Given the description of an element on the screen output the (x, y) to click on. 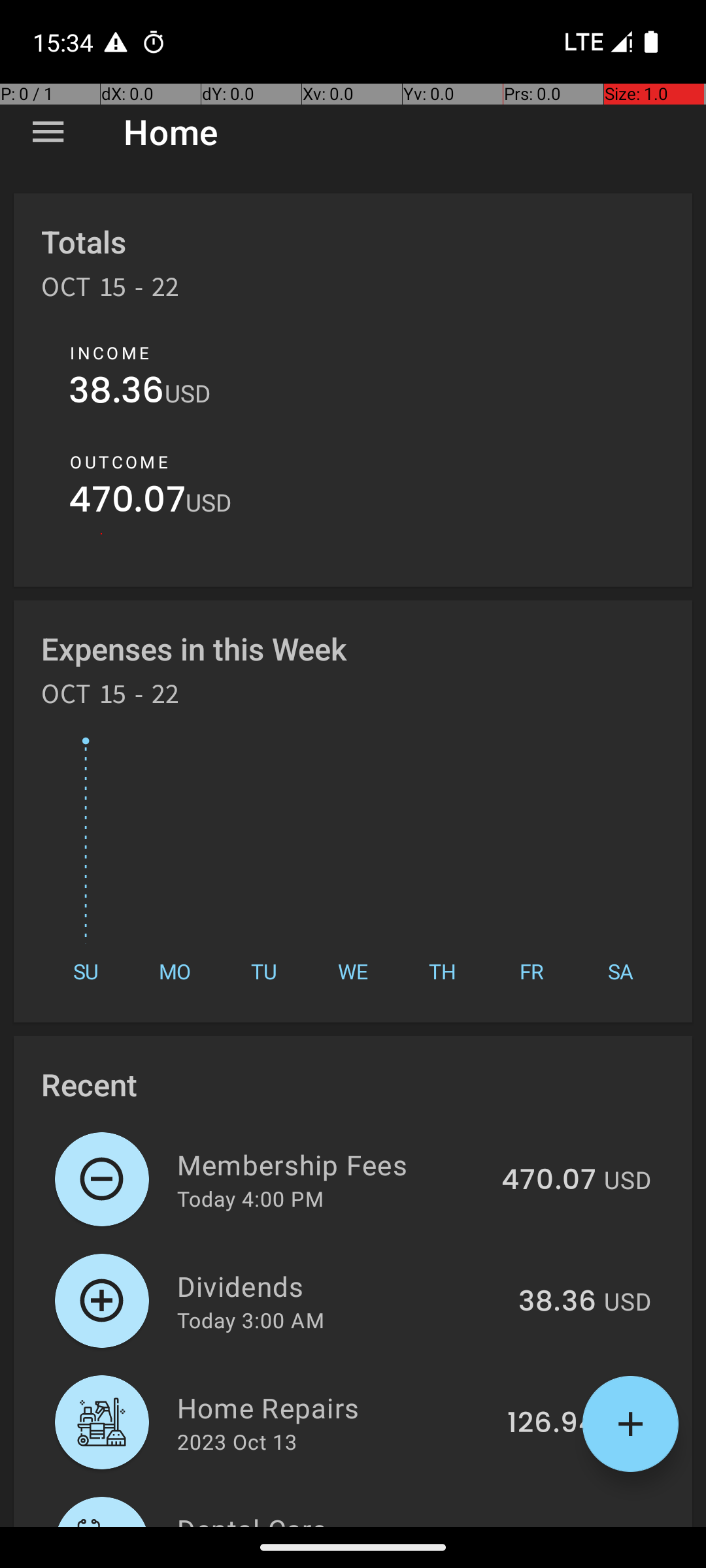
38.36 Element type: android.widget.TextView (116, 393)
470.07 Element type: android.widget.TextView (126, 502)
Membership Fees Element type: android.widget.TextView (331, 1164)
Today 4:00 PM Element type: android.widget.TextView (250, 1198)
Dividends Element type: android.widget.TextView (340, 1285)
Today 3:00 AM Element type: android.widget.TextView (250, 1320)
Home Repairs Element type: android.widget.TextView (334, 1407)
2023 Oct 13 Element type: android.widget.TextView (236, 1441)
126.94 Element type: android.widget.TextView (551, 1423)
Dental Care Element type: android.widget.TextView (349, 1518)
73.9 Element type: android.widget.TextView (566, 1524)
